Given the description of an element on the screen output the (x, y) to click on. 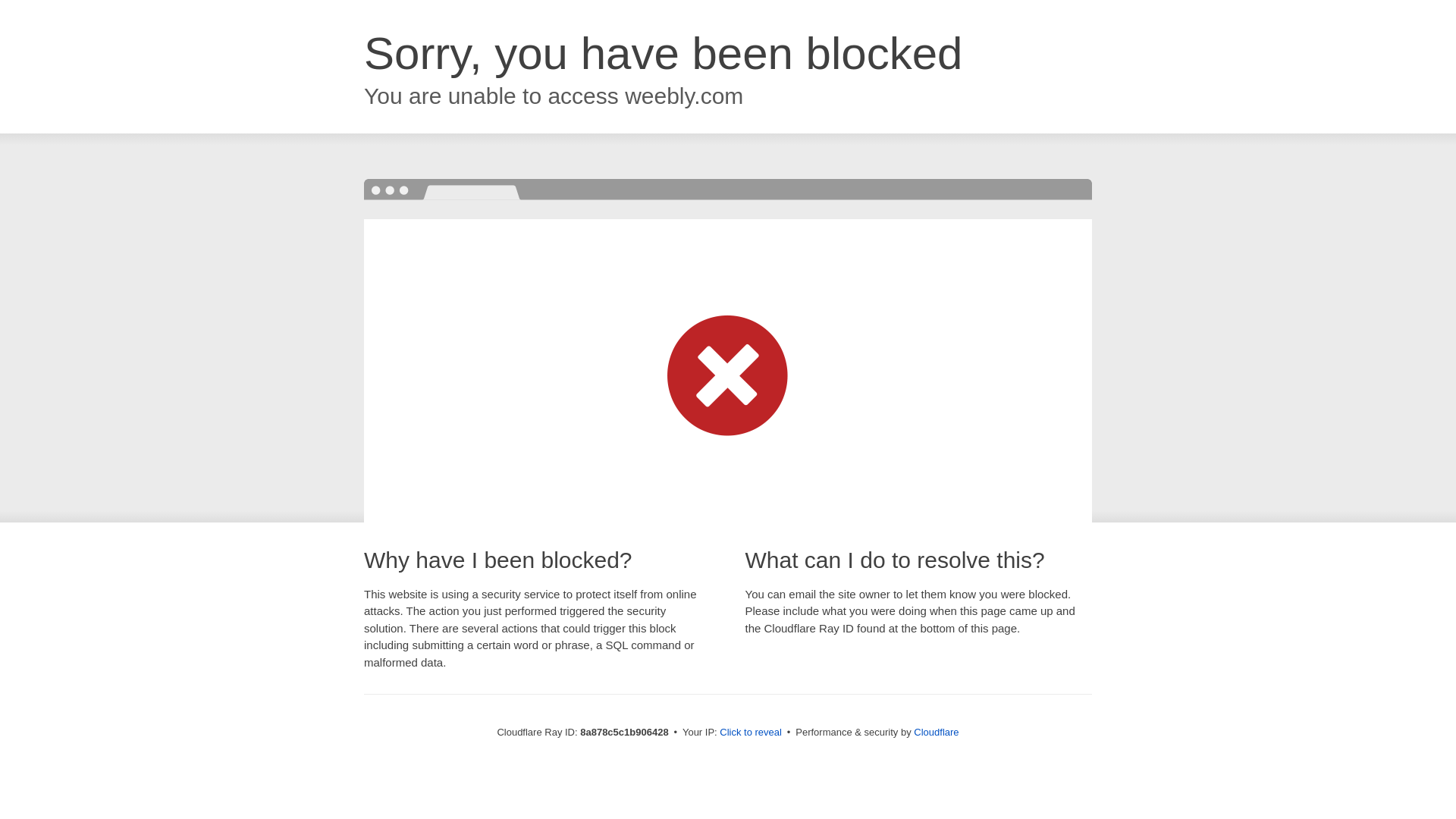
Click to reveal (750, 732)
Cloudflare (936, 731)
